Given the description of an element on the screen output the (x, y) to click on. 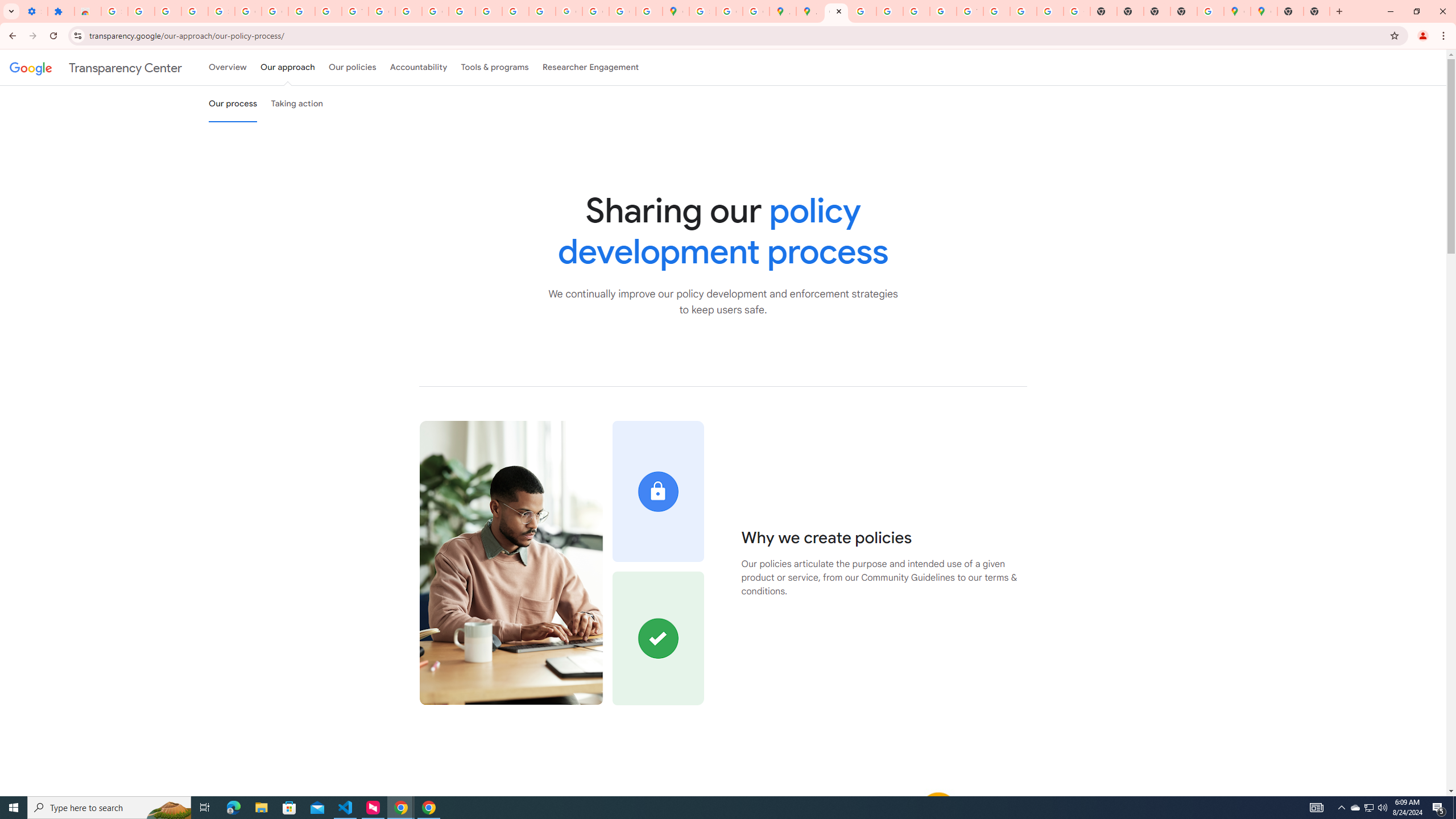
Create your Google Account (729, 11)
Reviews: Helix Fruit Jump Arcade Game (87, 11)
New Tab (1183, 11)
Taking action (296, 103)
New Tab (1290, 11)
Researcher Engagement (590, 67)
